Given the description of an element on the screen output the (x, y) to click on. 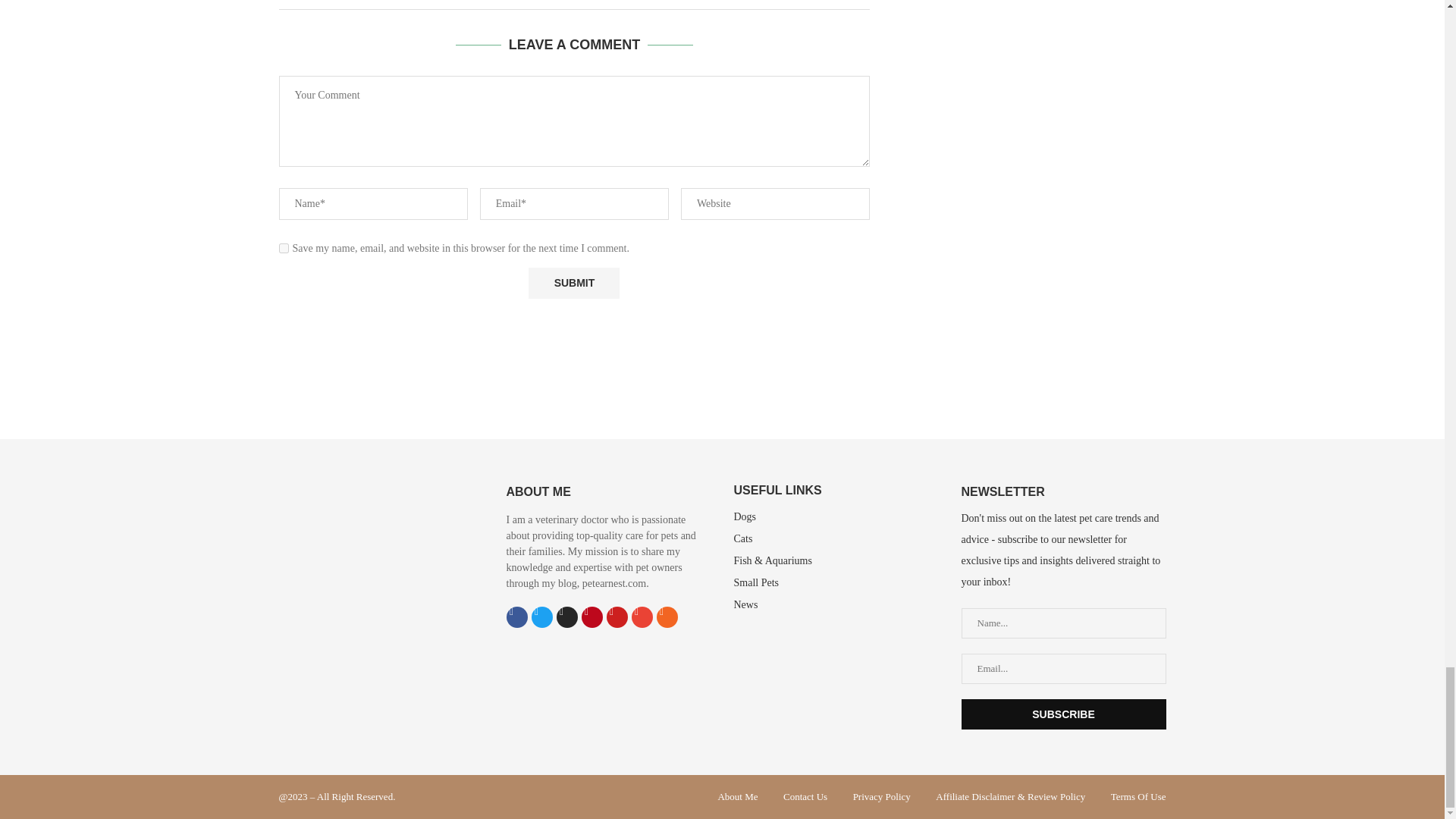
Subscribe (1063, 714)
Submit (574, 282)
yes (283, 248)
